Given the description of an element on the screen output the (x, y) to click on. 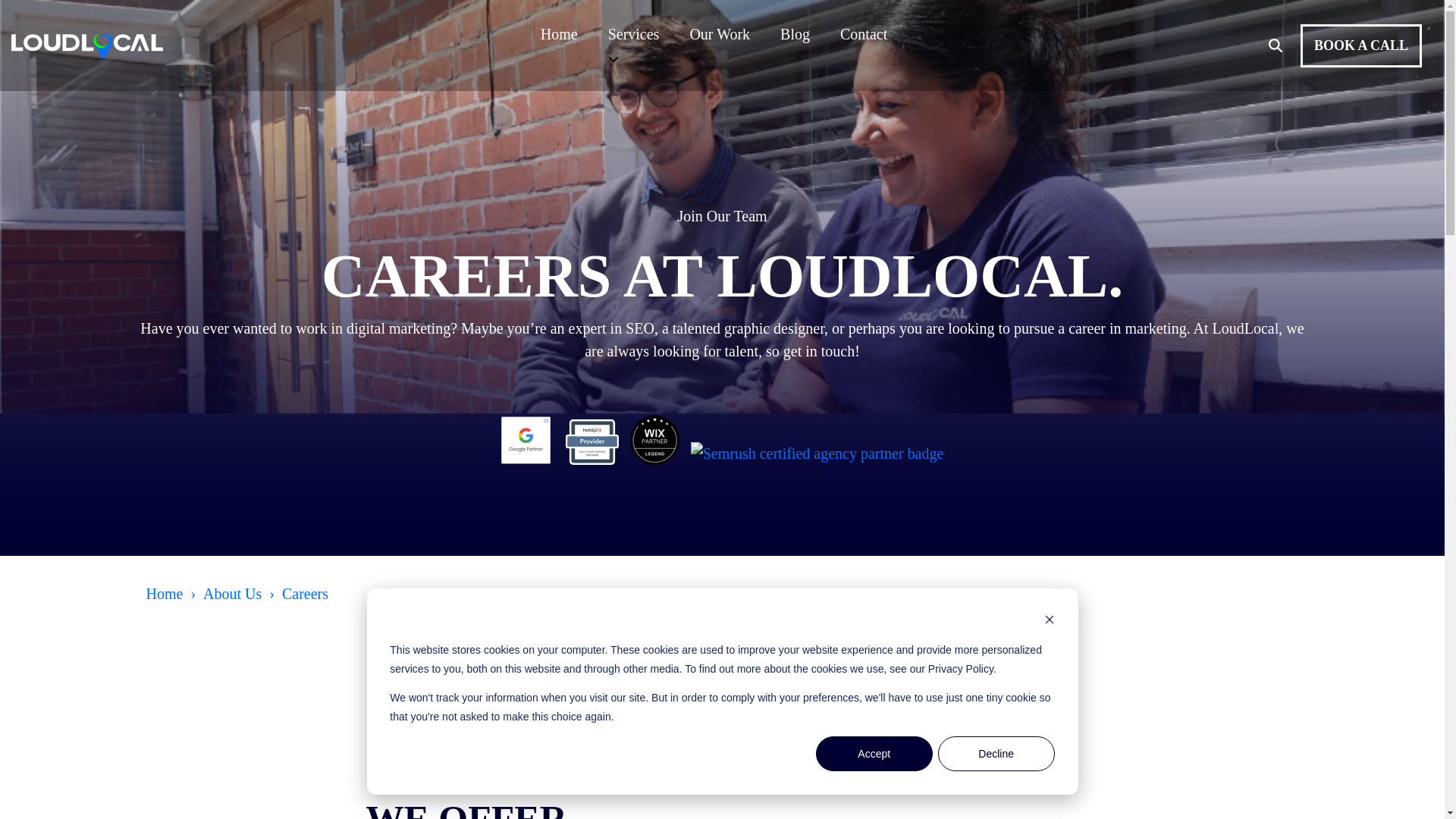
Services (633, 33)
LoudLocal Digital Marketing Services Warwickshire-2 (87, 45)
Home (559, 33)
